Given the description of an element on the screen output the (x, y) to click on. 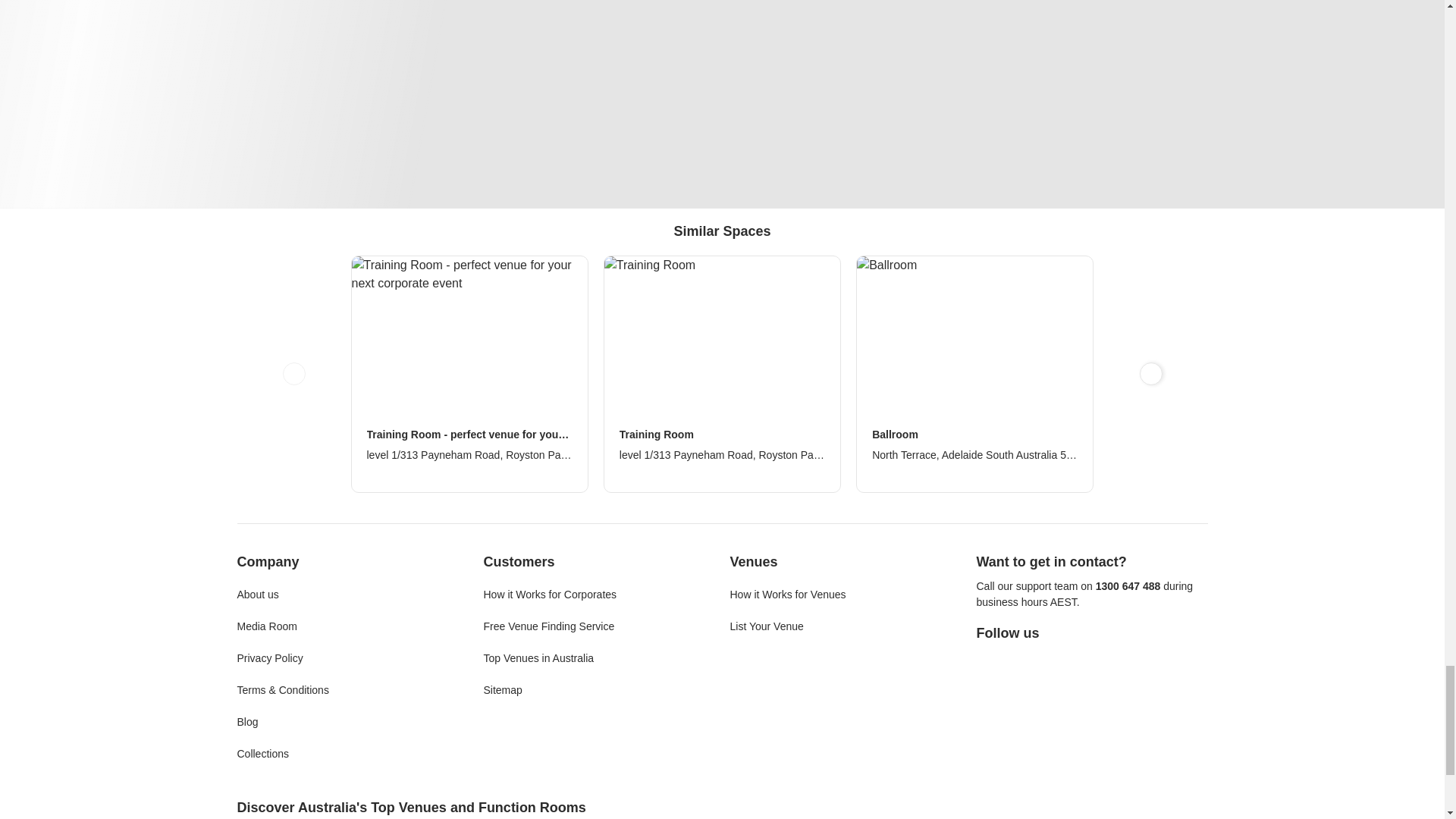
Training Room (722, 434)
Ballroom (974, 434)
North Terrace, Adelaide South Australia 5000, Australia (974, 454)
Training Room - perfect venue for your next corporate event (469, 434)
